Given the description of an element on the screen output the (x, y) to click on. 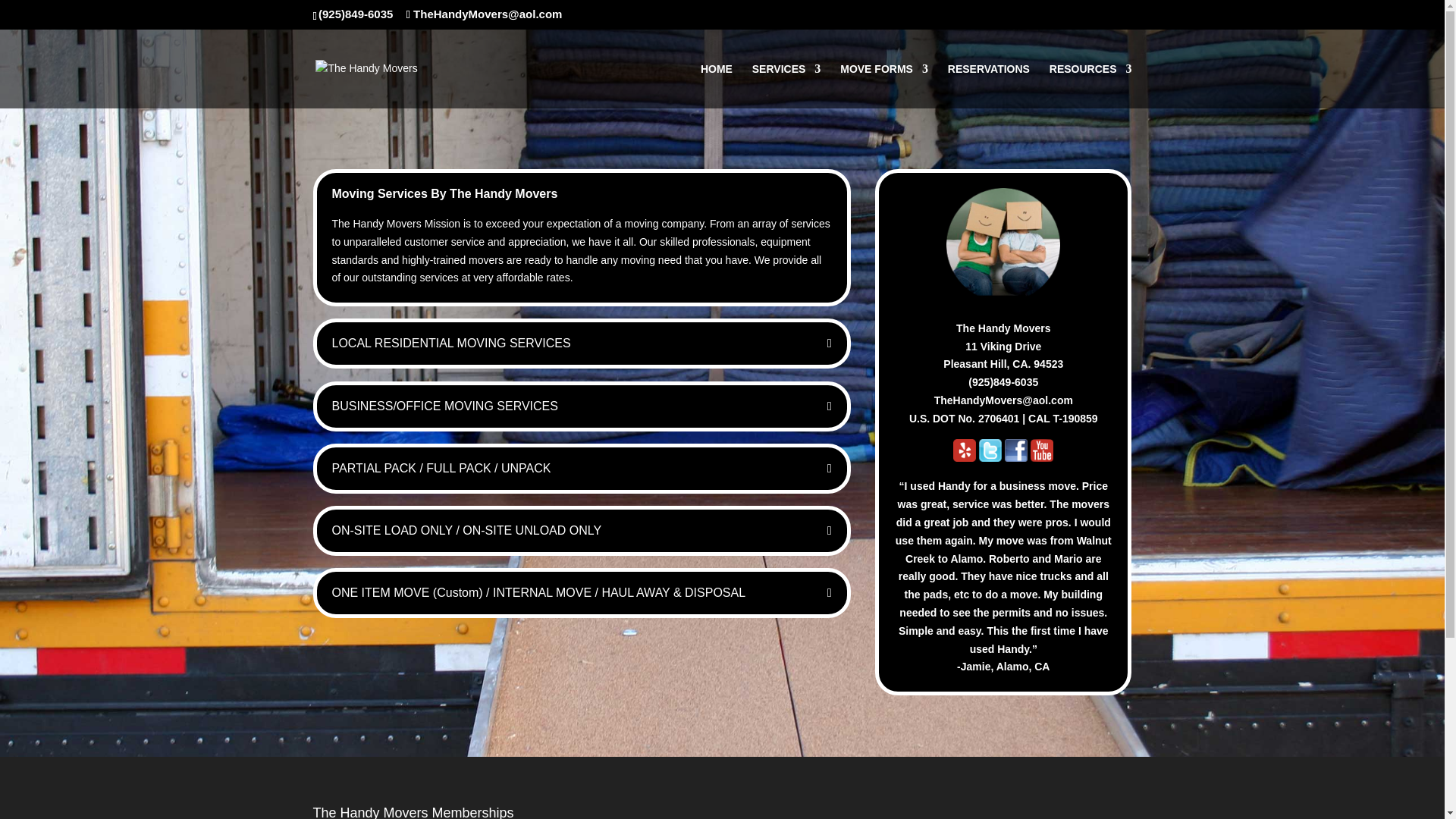
MOVE FORMS (884, 85)
SERVICES (786, 85)
RESOURCES (1090, 85)
RESERVATIONS (988, 85)
